Given the description of an element on the screen output the (x, y) to click on. 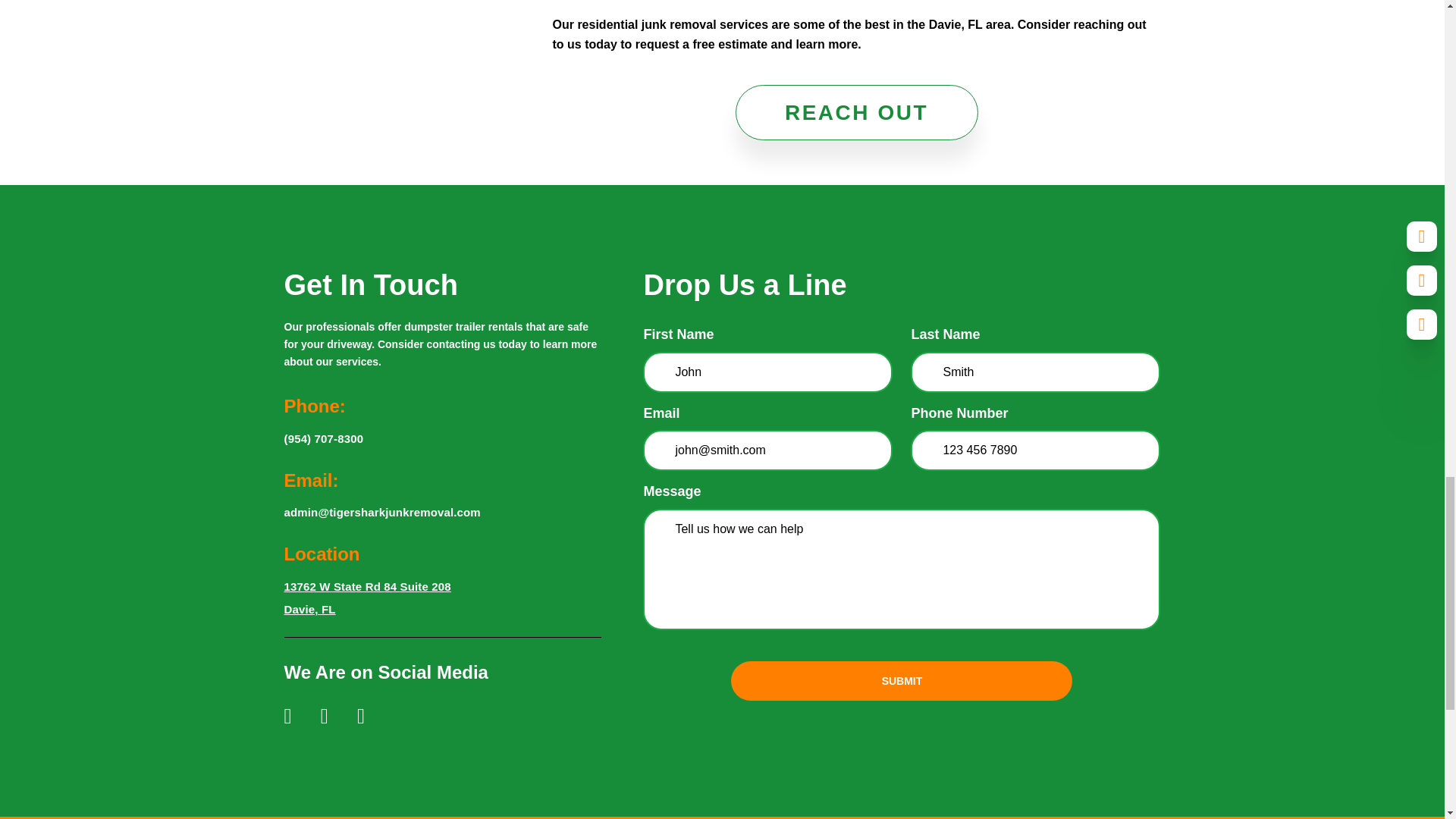
Submit (900, 680)
